Given the description of an element on the screen output the (x, y) to click on. 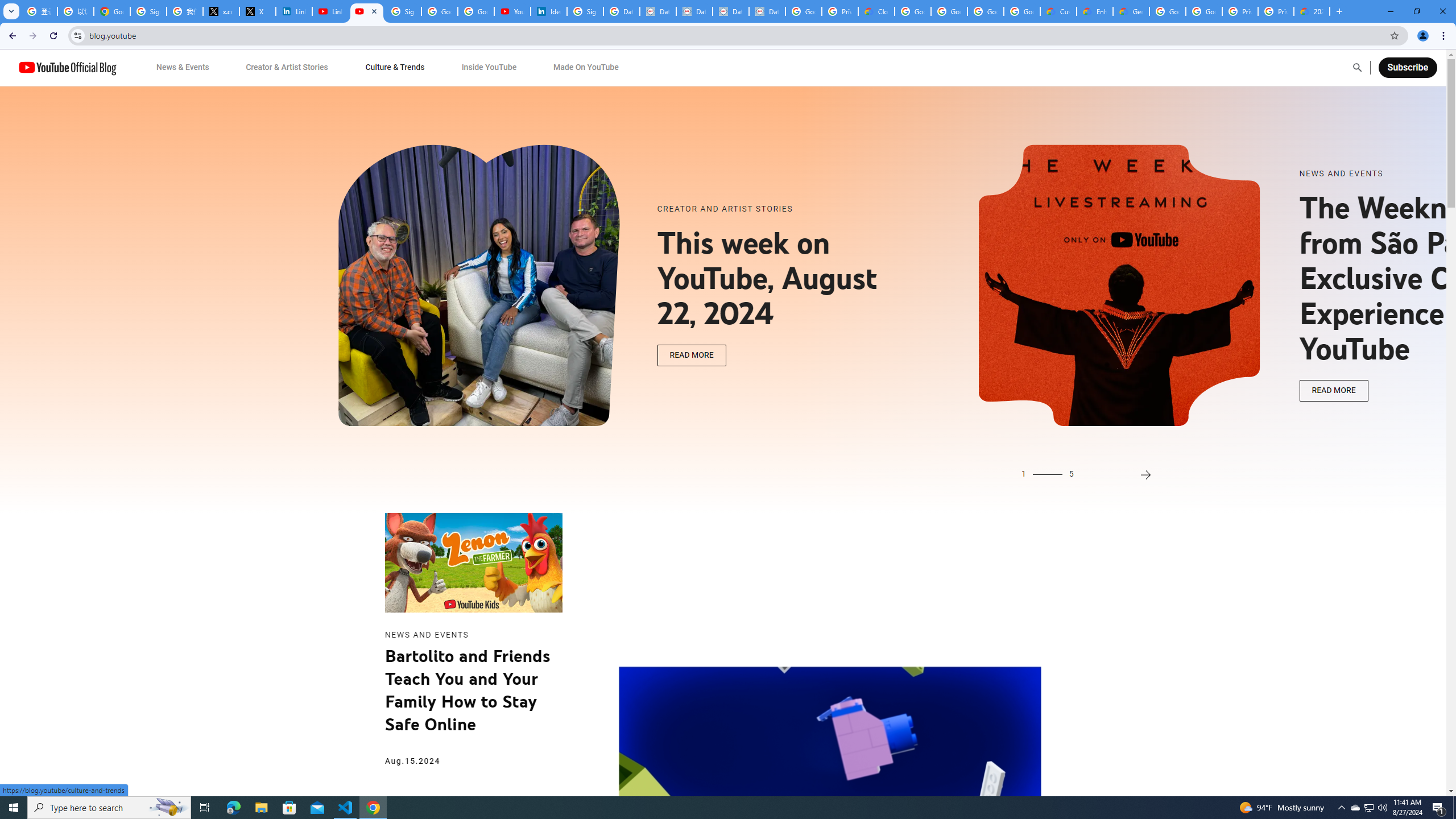
Subscribe (1407, 67)
Sign in - Google Accounts (148, 11)
LinkedIn - YouTube (330, 11)
Sign in - Google Accounts (585, 11)
Culture & Trends (395, 67)
Customer Care | Google Cloud (1058, 11)
